Given the description of an element on the screen output the (x, y) to click on. 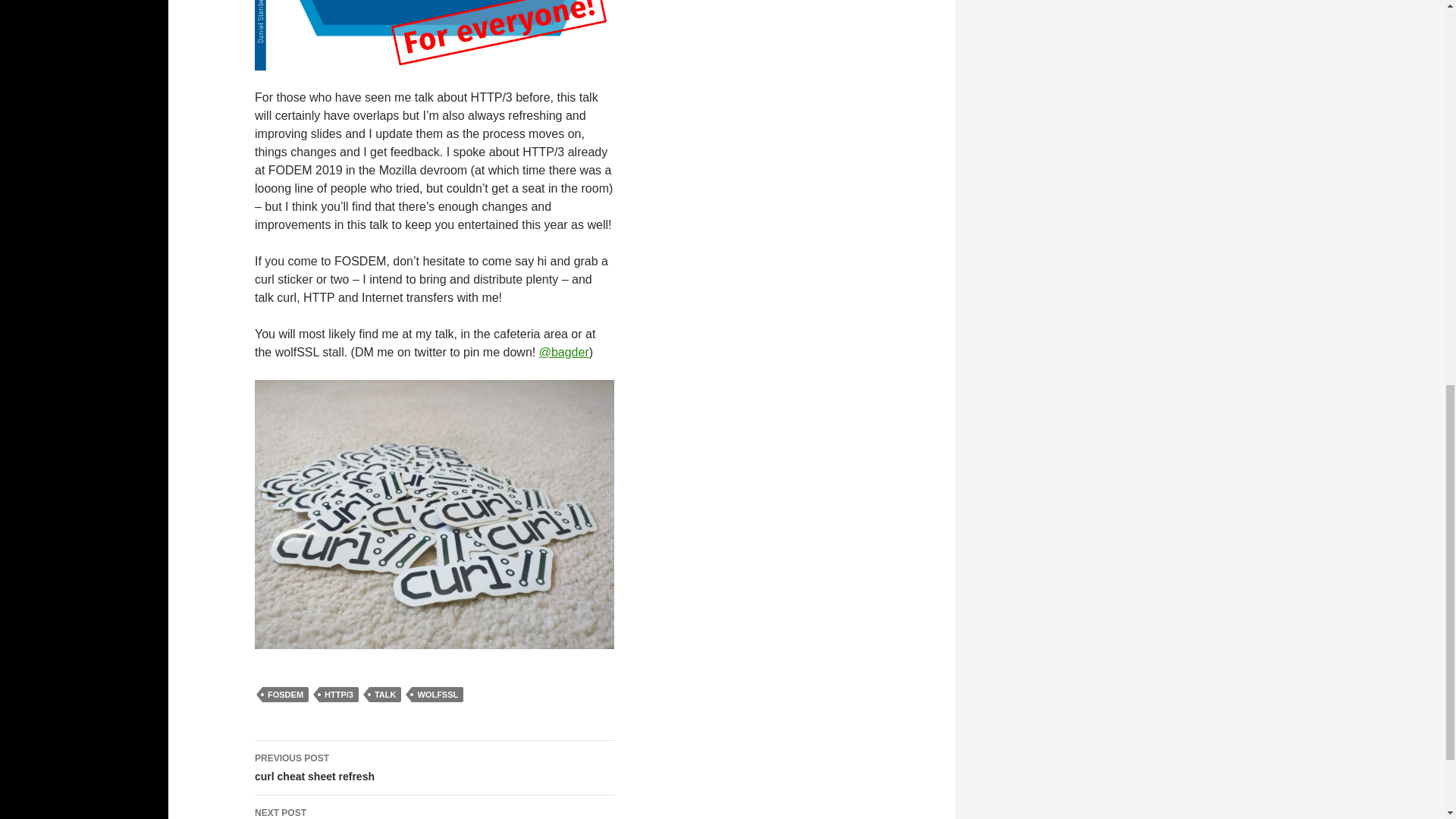
TALK (385, 694)
WOLFSSL (437, 694)
FOSDEM (285, 694)
